Given the description of an element on the screen output the (x, y) to click on. 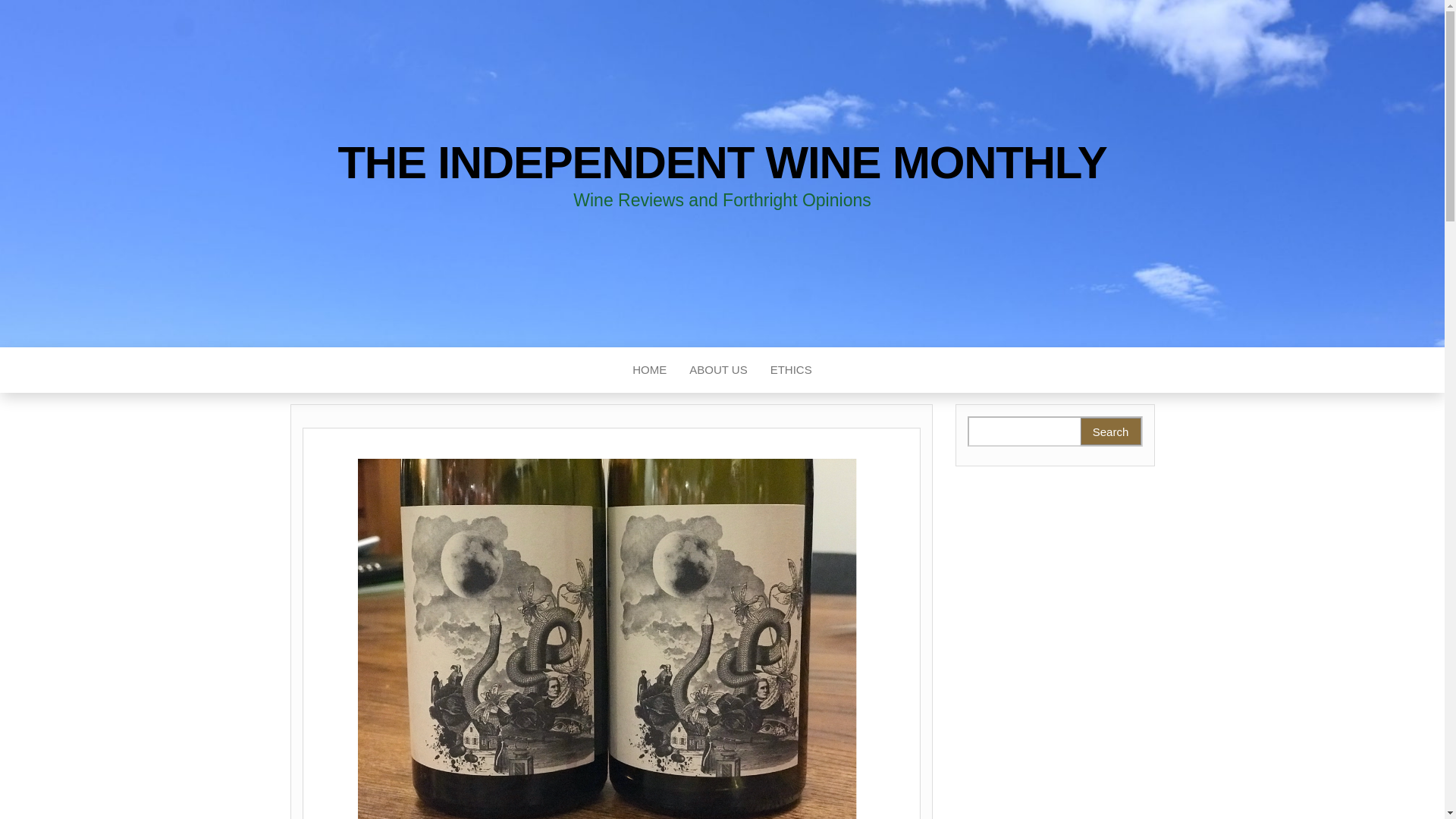
HOME (649, 370)
Home (649, 370)
About Us (718, 370)
Search (1110, 431)
THE INDEPENDENT WINE MONTHLY (721, 162)
Ethics (791, 370)
Search (1110, 431)
ABOUT US (718, 370)
ETHICS (791, 370)
